Given the description of an element on the screen output the (x, y) to click on. 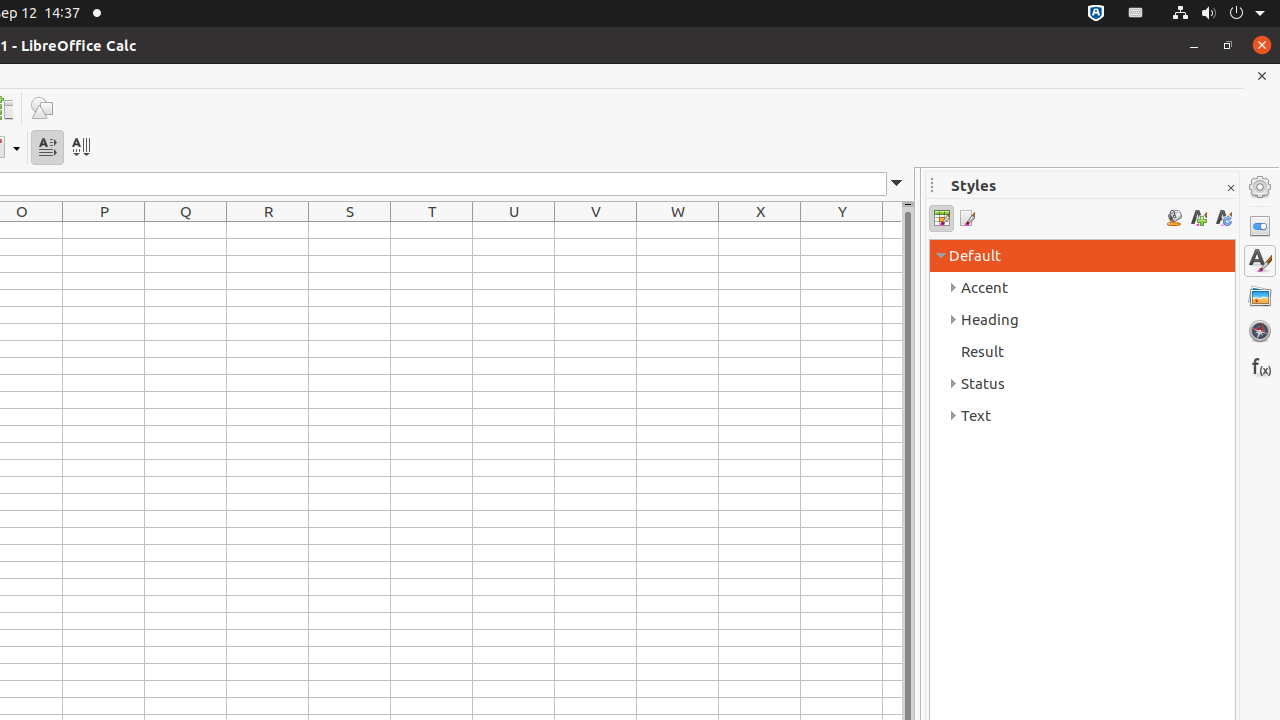
Z1 Element type: table-cell (892, 230)
Text direction from left to right Element type: toggle-button (47, 147)
V1 Element type: table-cell (596, 230)
Functions Element type: radio-button (1260, 366)
Gallery Element type: radio-button (1260, 296)
